Given the description of an element on the screen output the (x, y) to click on. 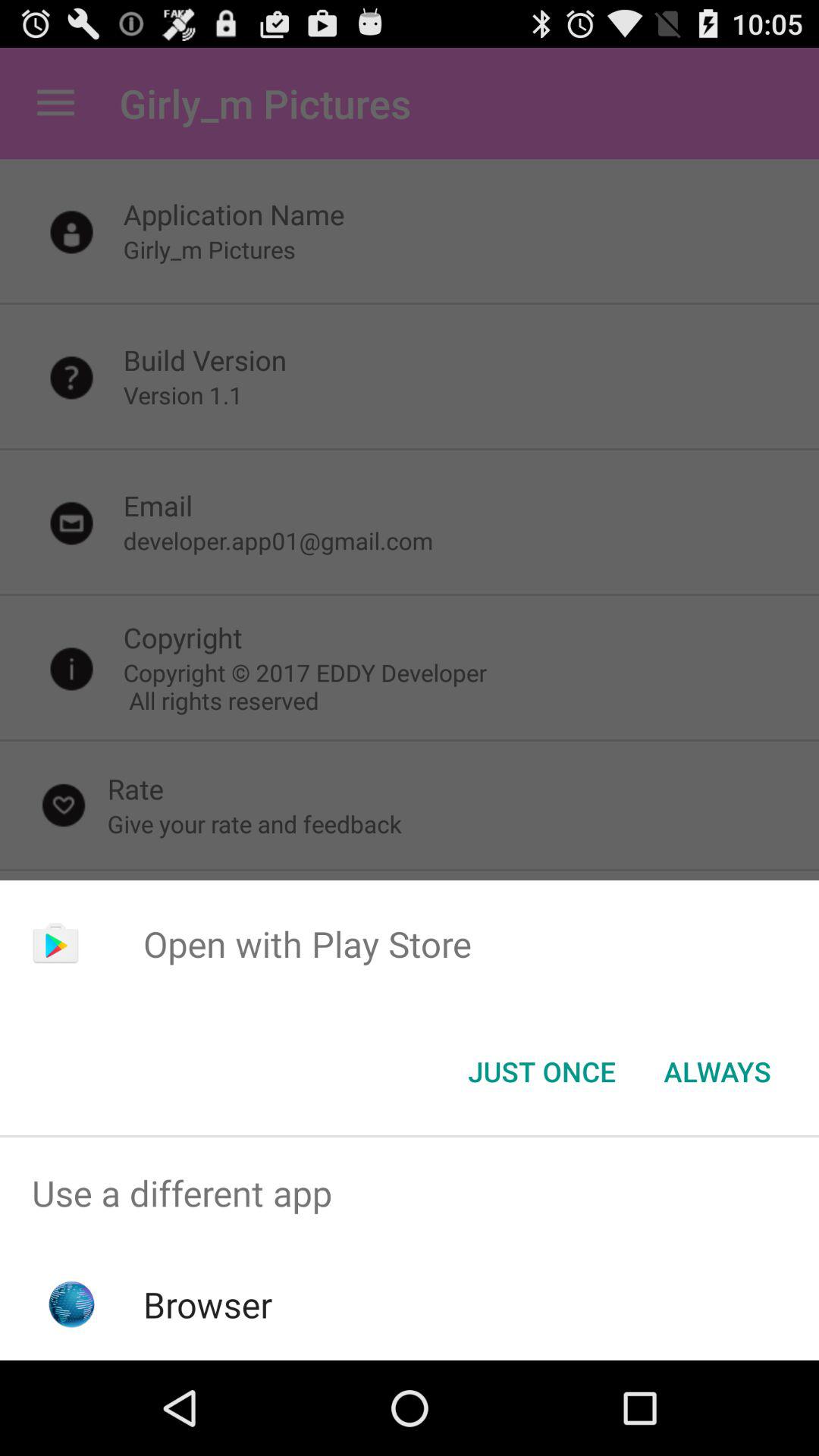
launch icon to the left of always icon (541, 1071)
